Given the description of an element on the screen output the (x, y) to click on. 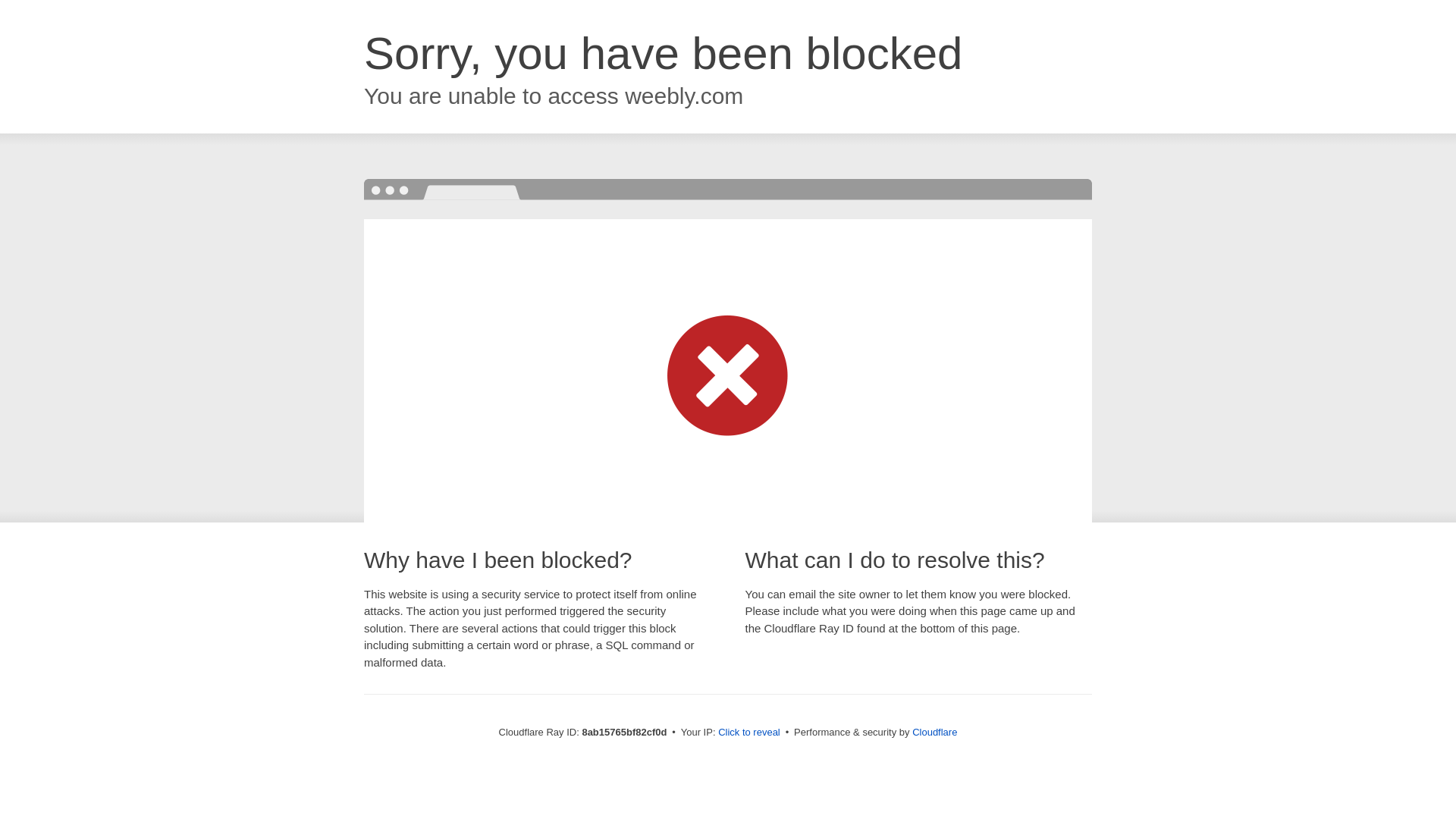
Cloudflare (934, 731)
Click to reveal (748, 732)
